Given the description of an element on the screen output the (x, y) to click on. 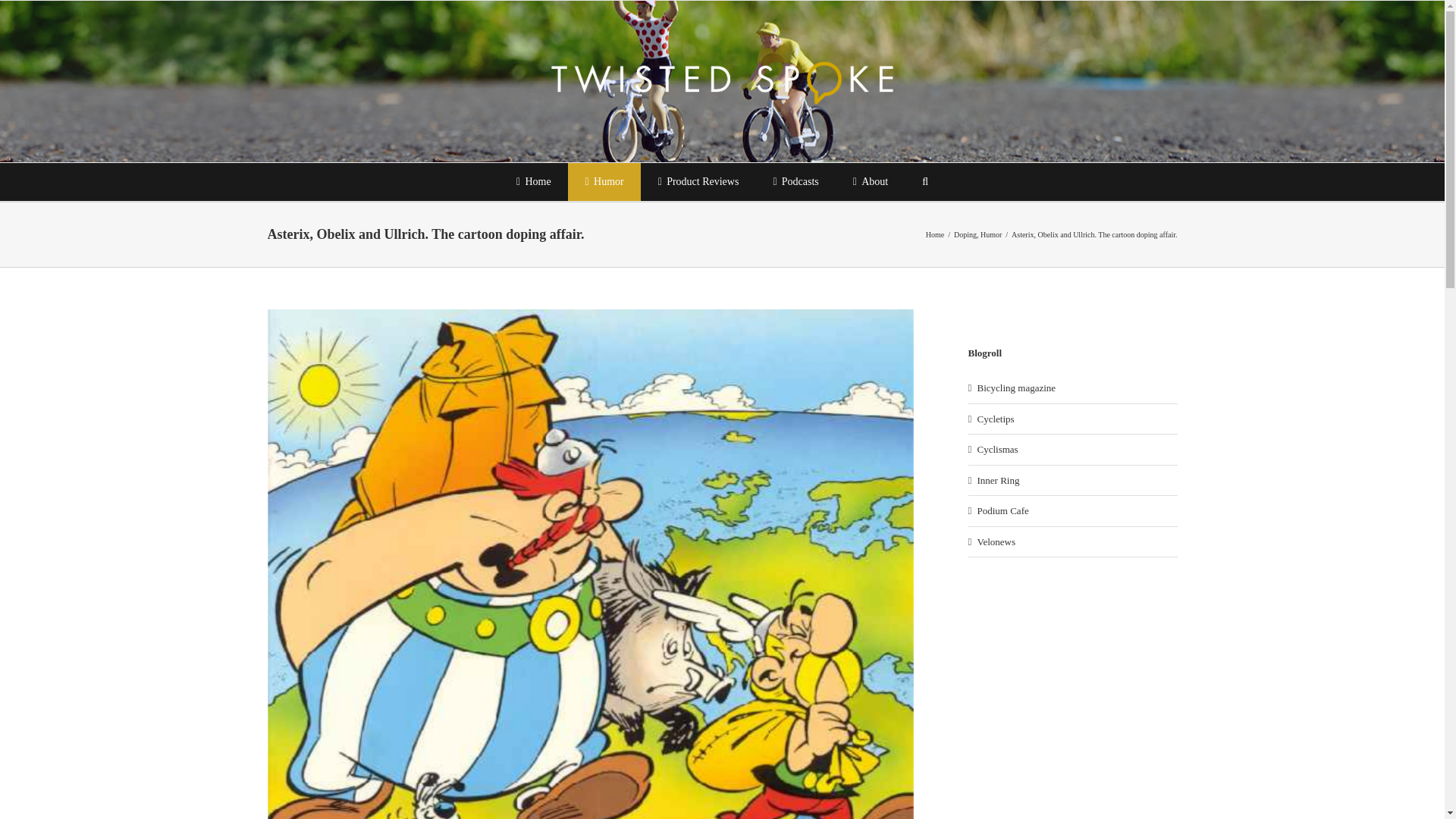
Product Reviews (697, 181)
About (869, 181)
Podcasts (795, 181)
Doping (964, 234)
Search (924, 181)
Humor (990, 234)
Humor (603, 181)
Home (934, 234)
Home (533, 181)
